Given the description of an element on the screen output the (x, y) to click on. 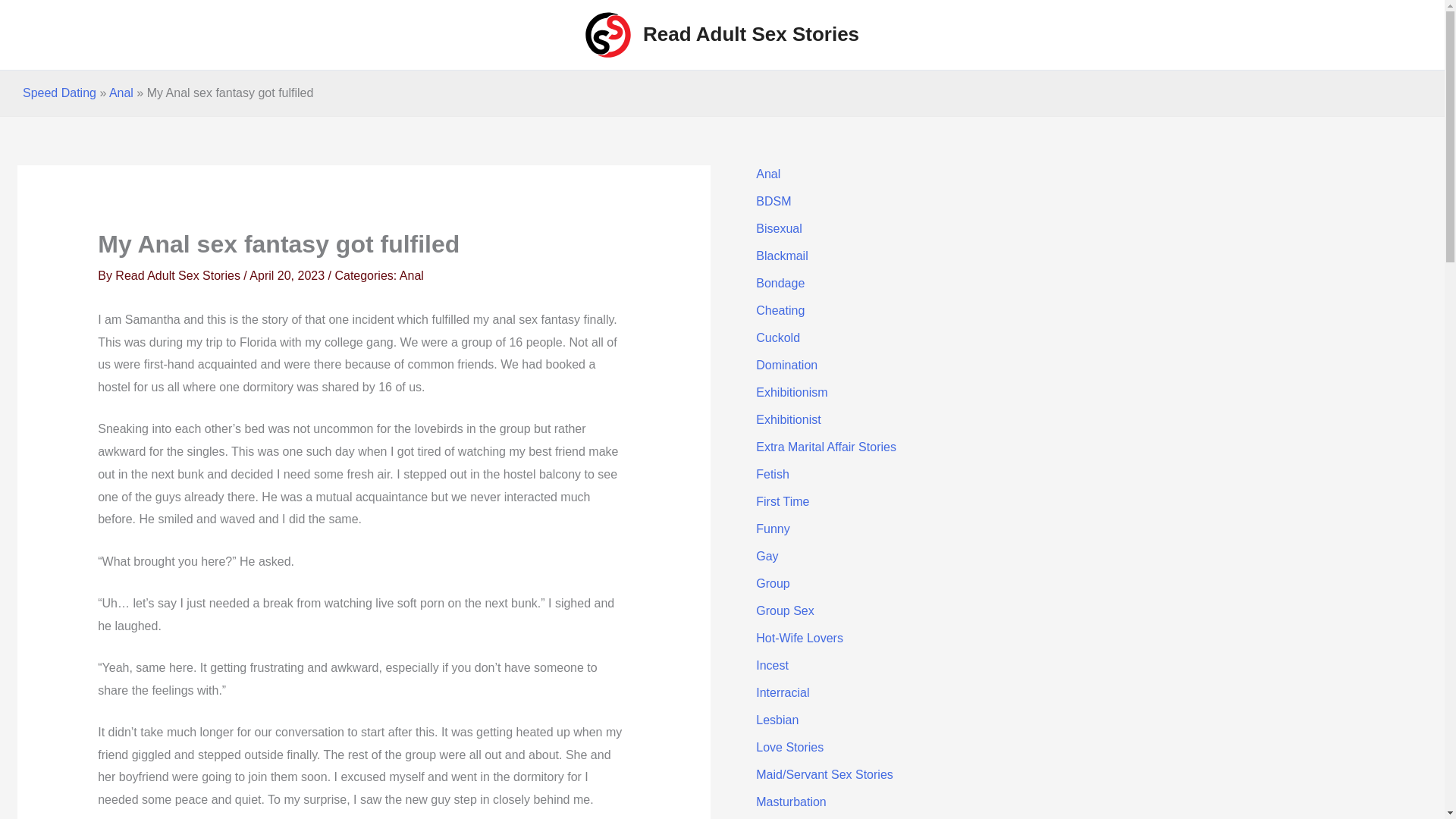
Exhibitionism (791, 391)
Interracial (782, 692)
Fetish (772, 473)
Cuckold (777, 337)
Domination (785, 364)
Blackmail (781, 255)
Anal (121, 92)
Masturbation (791, 801)
Exhibitionist (788, 419)
Gay (766, 555)
Group (772, 583)
Bondage (780, 282)
Incest (772, 665)
Bisexual (778, 228)
Extra Marital Affair Stories (825, 446)
